Given the description of an element on the screen output the (x, y) to click on. 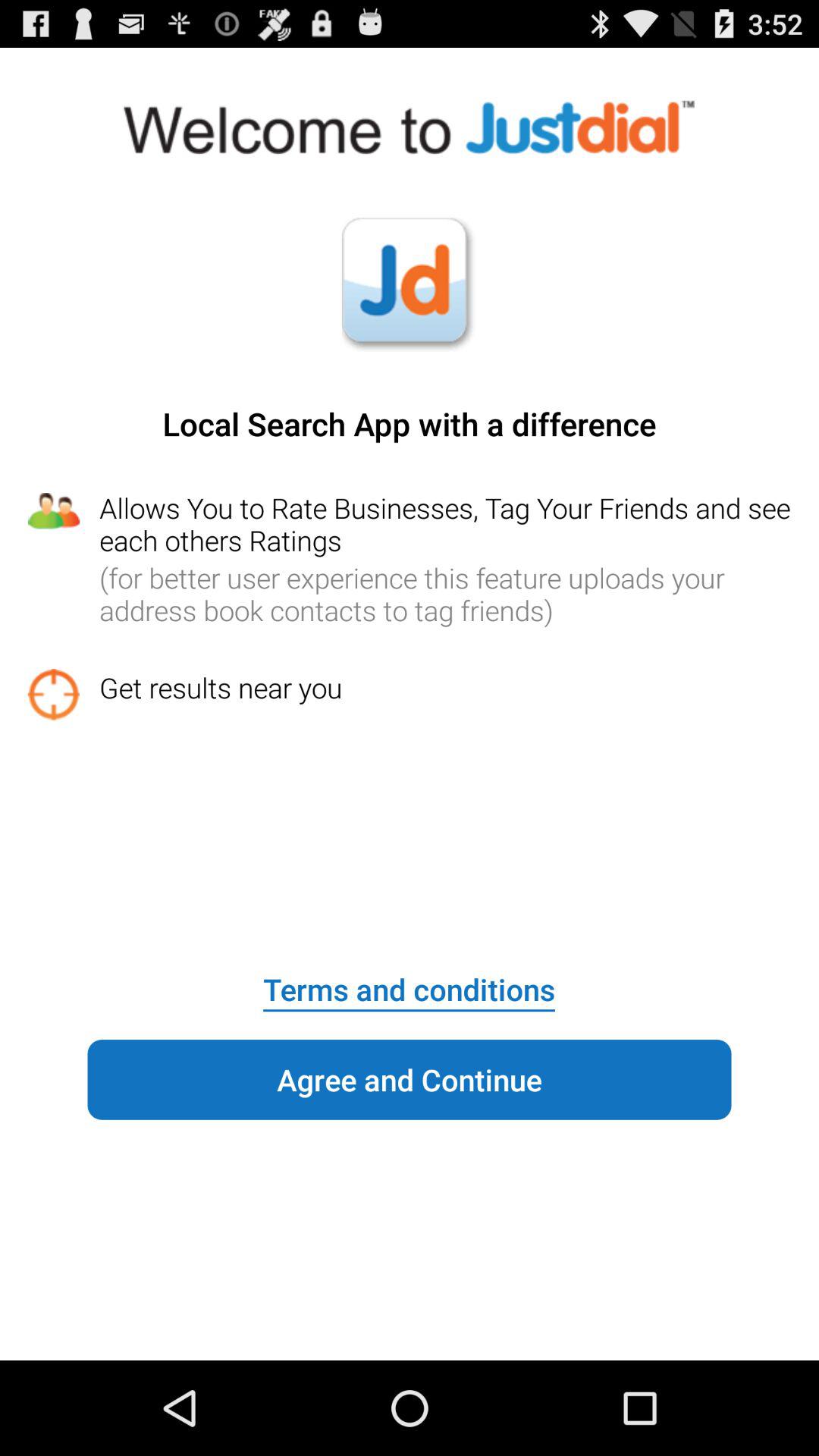
launch agree and continue button (409, 1079)
